Given the description of an element on the screen output the (x, y) to click on. 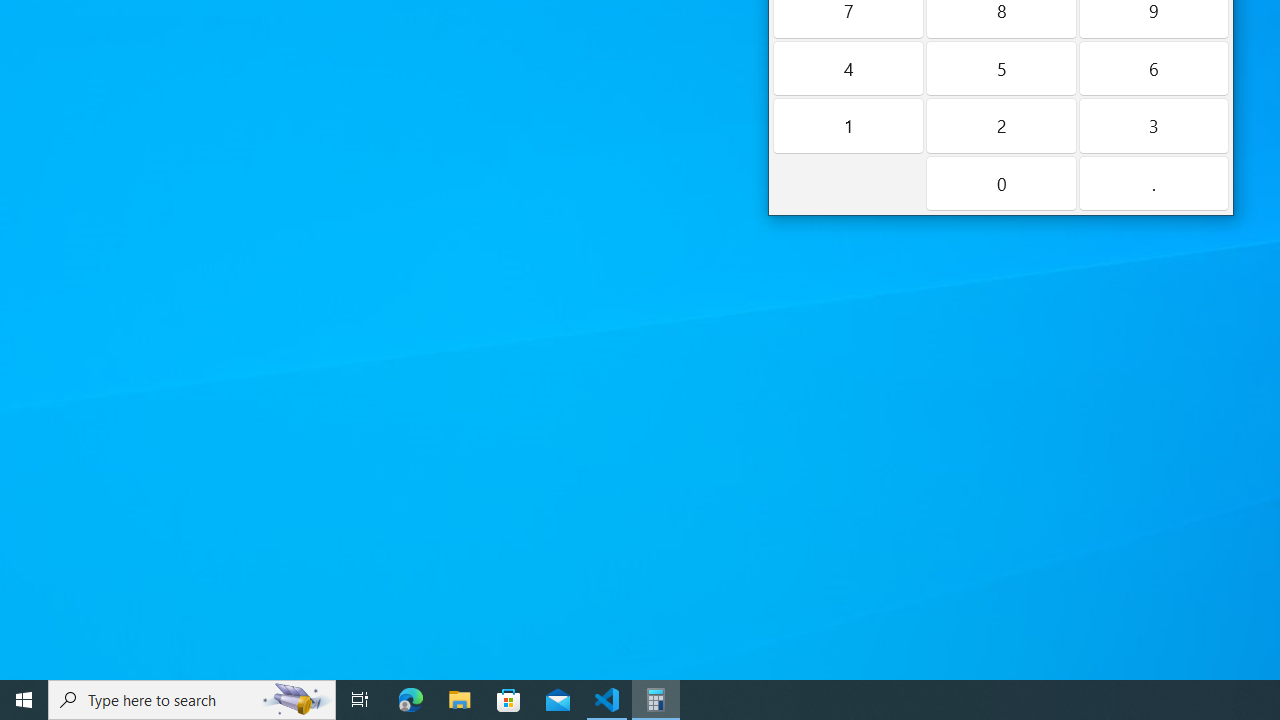
Three (1153, 125)
Five (1000, 68)
